Given the description of an element on the screen output the (x, y) to click on. 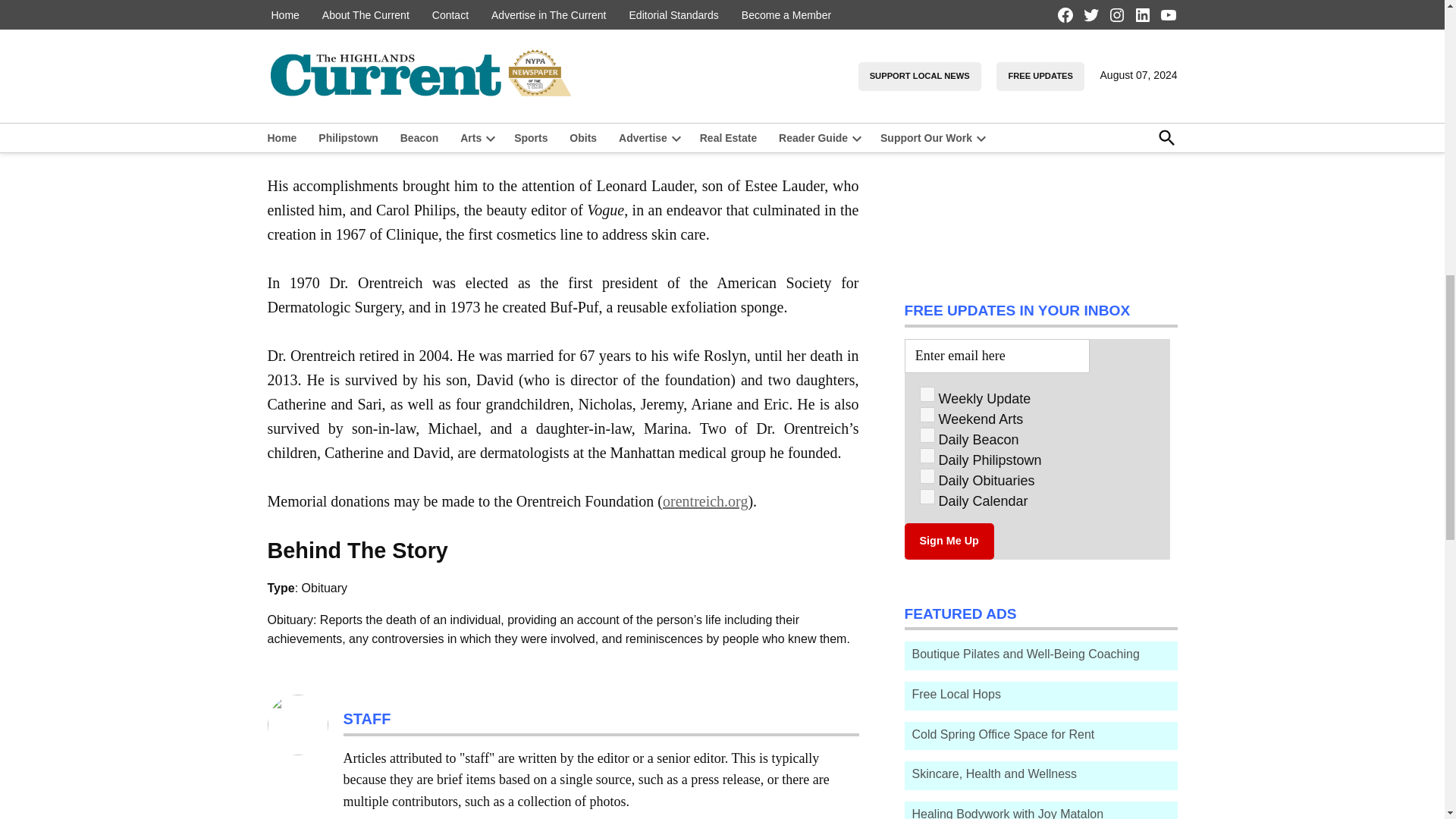
Enter email here (996, 356)
Sign Me Up (948, 541)
